Given the description of an element on the screen output the (x, y) to click on. 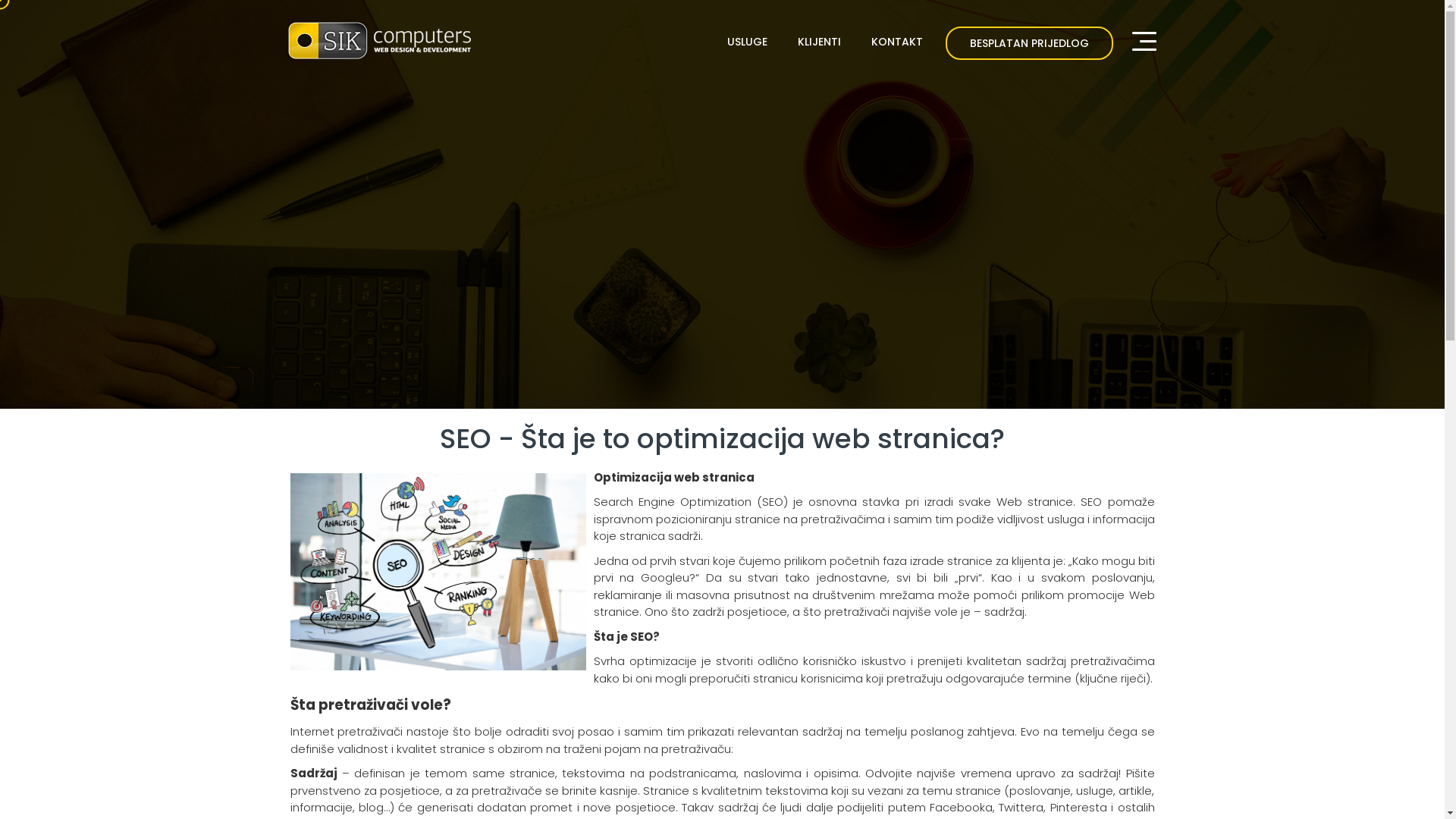
BESPLATAN PRIJEDLOG Element type: text (1028, 42)
KLIJENTI Element type: text (819, 41)
KONTAKT Element type: text (895, 41)
USLUGE Element type: text (746, 41)
